Given the description of an element on the screen output the (x, y) to click on. 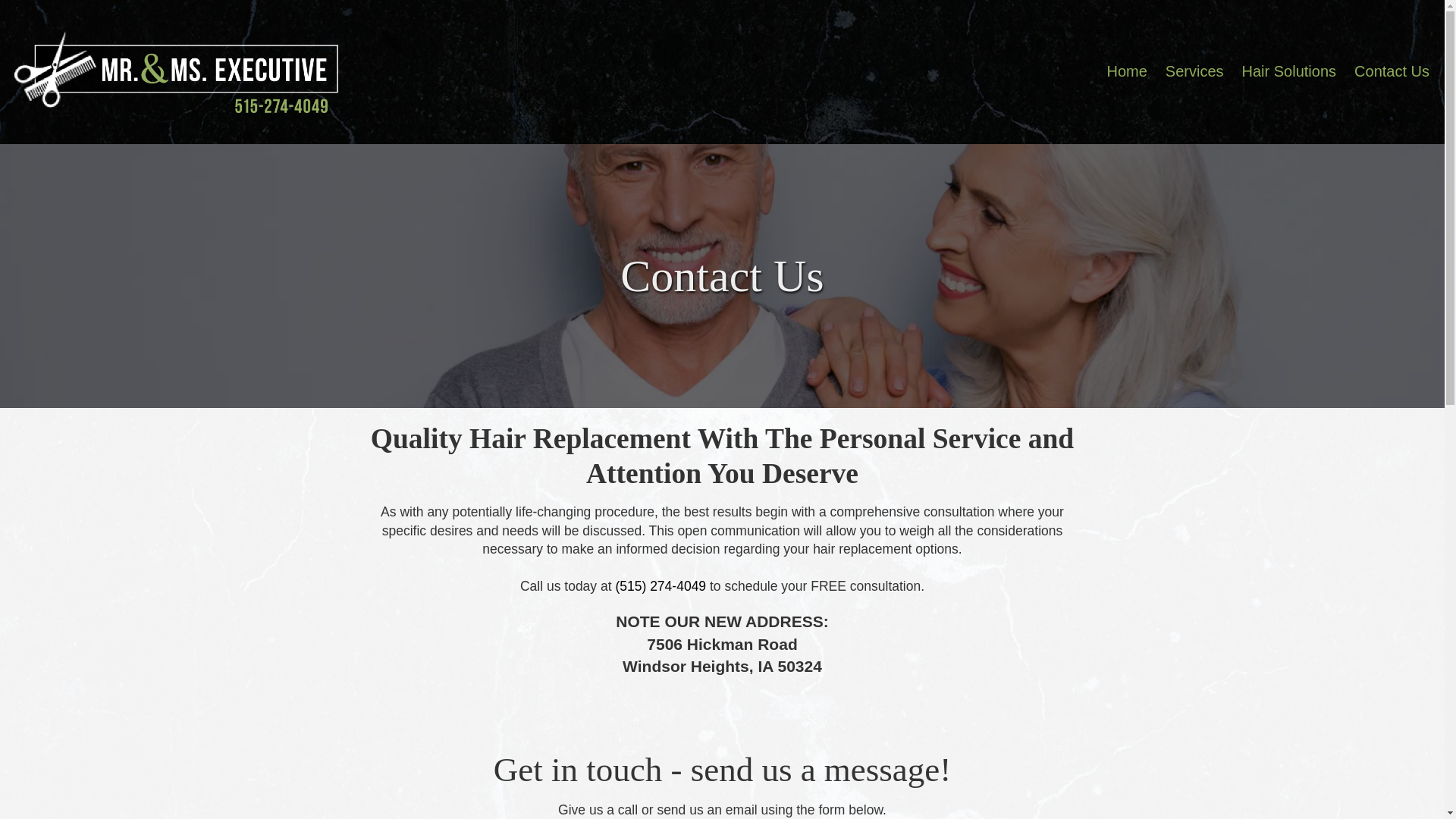
Services (1194, 71)
Contact Us (1391, 71)
Hair Solutions (1289, 71)
Home (1126, 71)
